Given the description of an element on the screen output the (x, y) to click on. 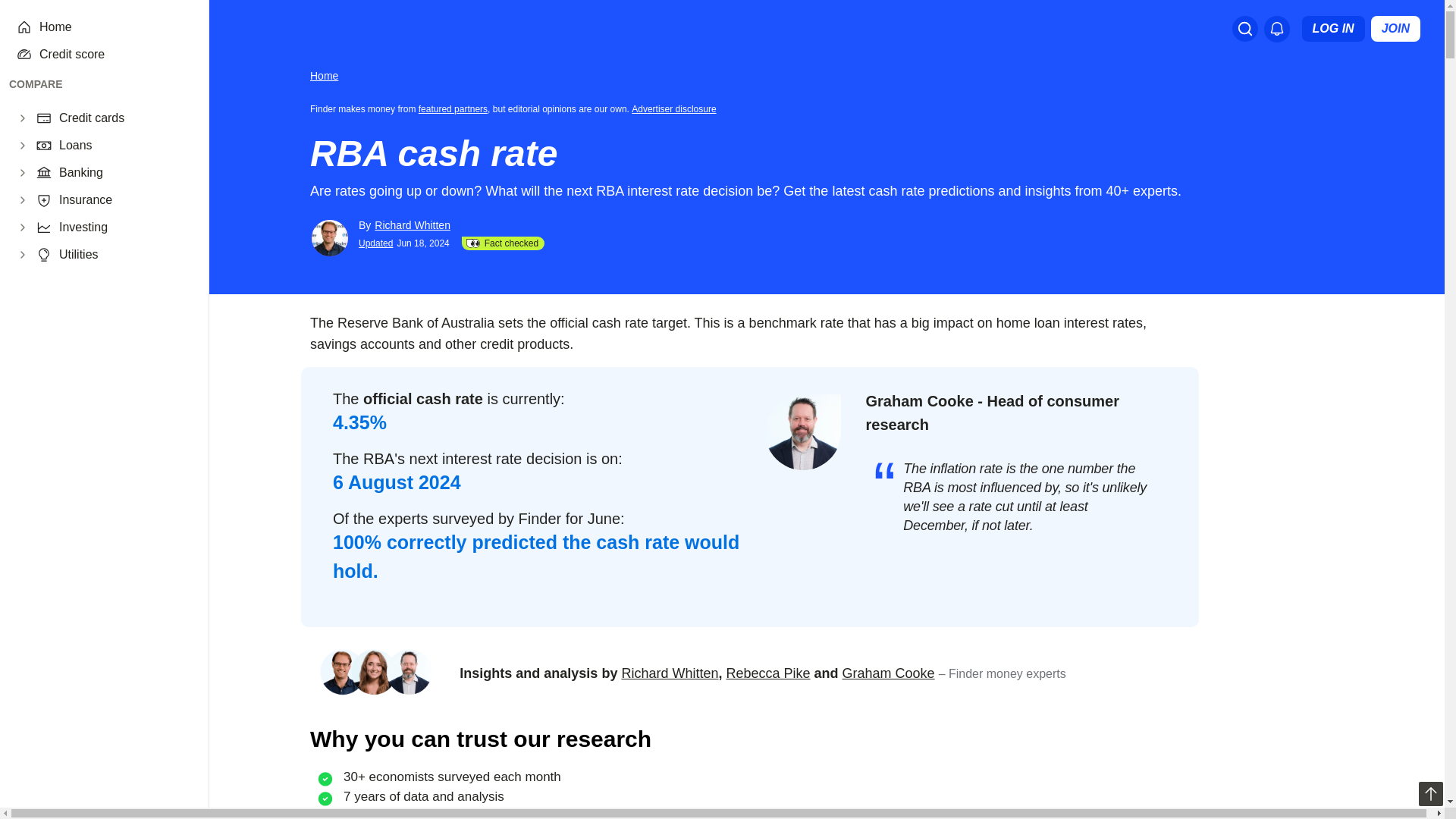
Loans (124, 145)
Back to Top (1430, 793)
Credit cards (124, 117)
Home (114, 27)
Important information about this website (676, 108)
Image: Graham Cooke (803, 431)
Credit score (114, 54)
